Given the description of an element on the screen output the (x, y) to click on. 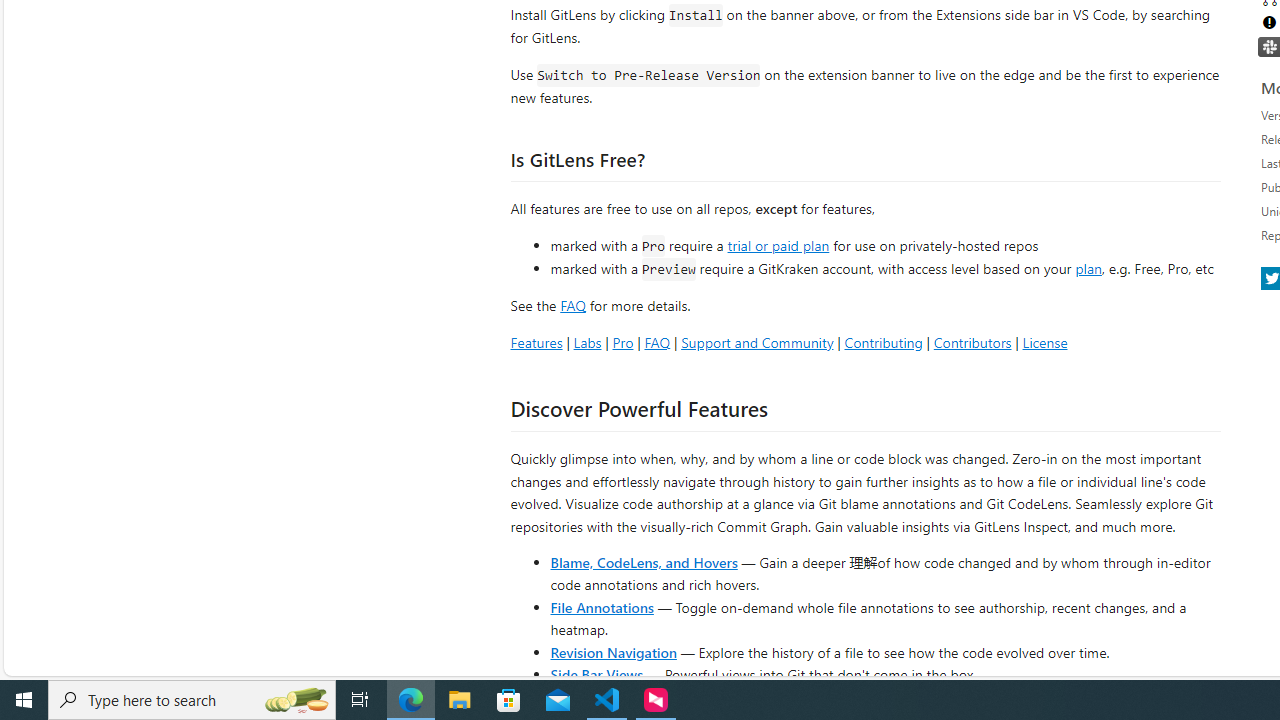
Microsoft Edge - 1 running window (411, 699)
File Explorer (460, 699)
Search highlights icon opens search home window (295, 699)
Start (24, 699)
Visual Studio Code - 1 running window (607, 699)
Microsoft Store (509, 699)
Type here to search (191, 699)
Task View (359, 699)
